Given the description of an element on the screen output the (x, y) to click on. 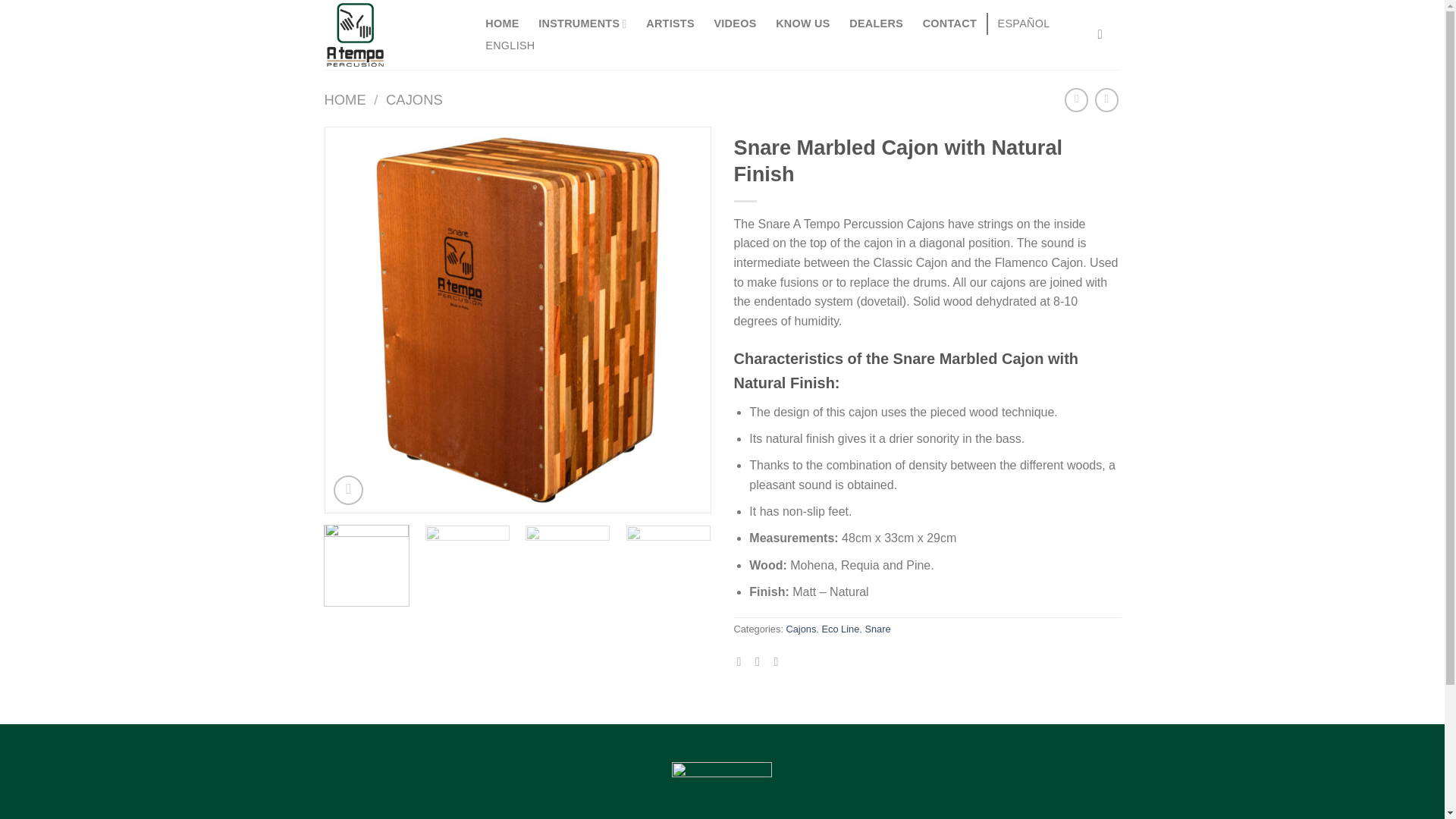
KNOW US (802, 24)
VIDEOS (735, 24)
HOME (345, 99)
ARTISTS (669, 24)
INSTRUMENTS (582, 24)
HOME (502, 24)
CAJONS (413, 99)
Zoom (347, 490)
DEALERS (876, 24)
ENGLISH (510, 45)
